Given the description of an element on the screen output the (x, y) to click on. 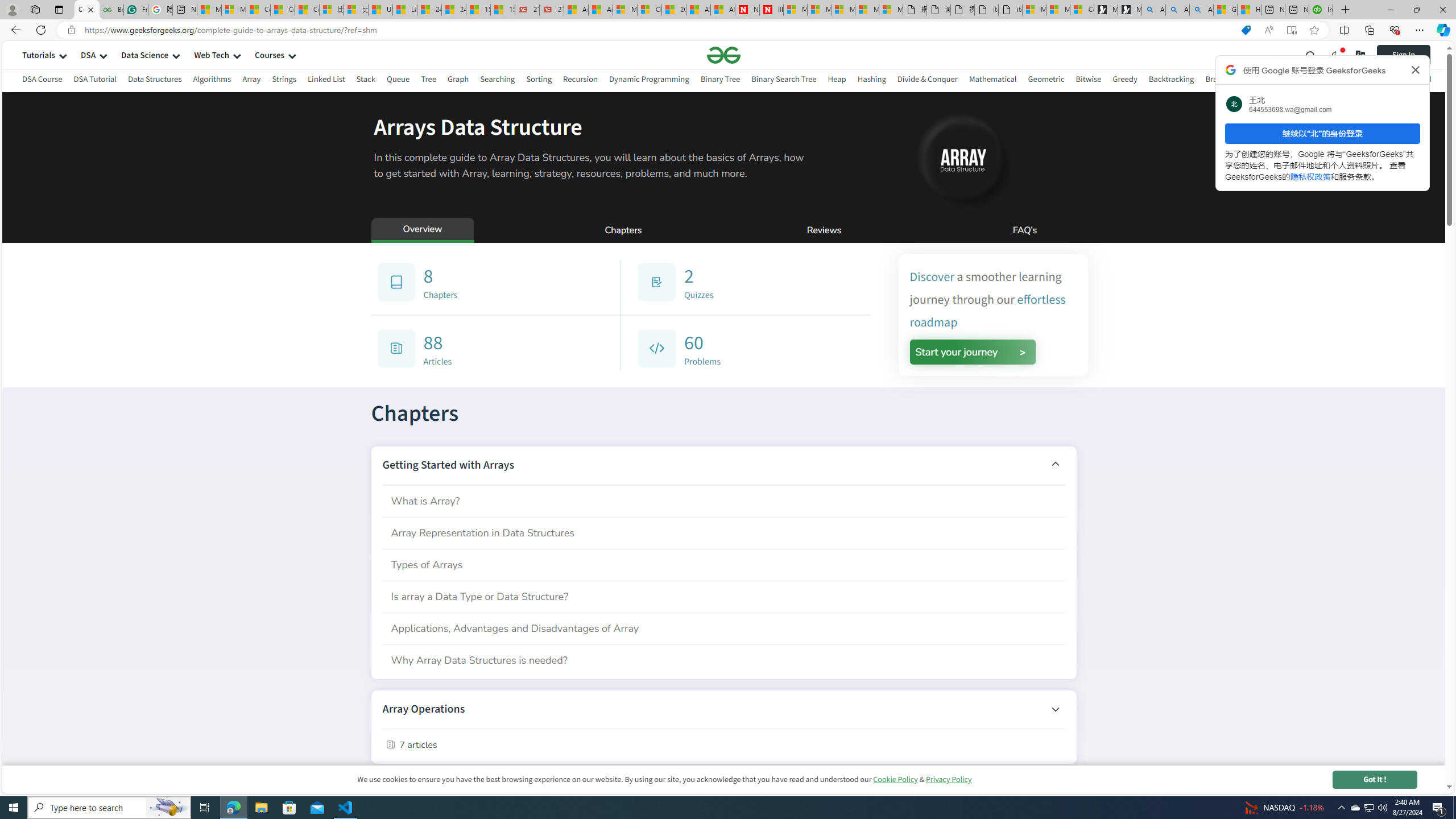
toggle theme (1335, 54)
This site has coupons! Shopping in Microsoft Edge (1245, 29)
Free AI Writing Assistance for Students | Grammarly (135, 9)
Privacy Policy (949, 779)
Recursion (579, 79)
Cookie Policy (895, 779)
Geometric (1046, 80)
Class: header-main__left-list-item gcse-search_li p-relative (1311, 54)
Linked List (325, 79)
Newsweek - News, Analysis, Politics, Business, Technology (747, 9)
